Given the description of an element on the screen output the (x, y) to click on. 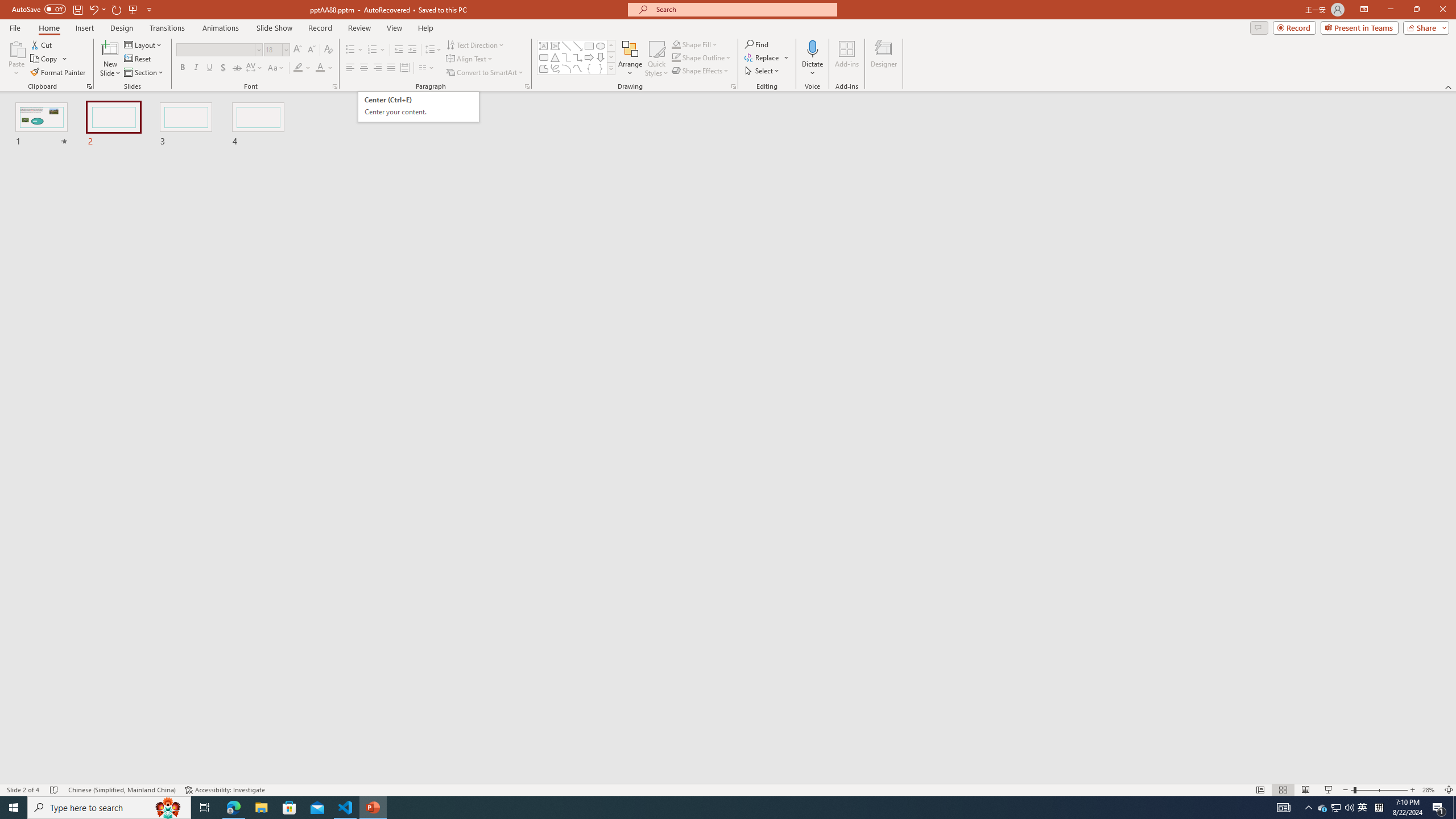
Office Clipboard... (88, 85)
Class: MsoCommandBar (728, 789)
Paste (16, 58)
Freeform: Scribble (554, 68)
Text Highlight Color Yellow (297, 67)
Shape Effects (700, 69)
Paragraph... (526, 85)
Bold (182, 67)
